Given the description of an element on the screen output the (x, y) to click on. 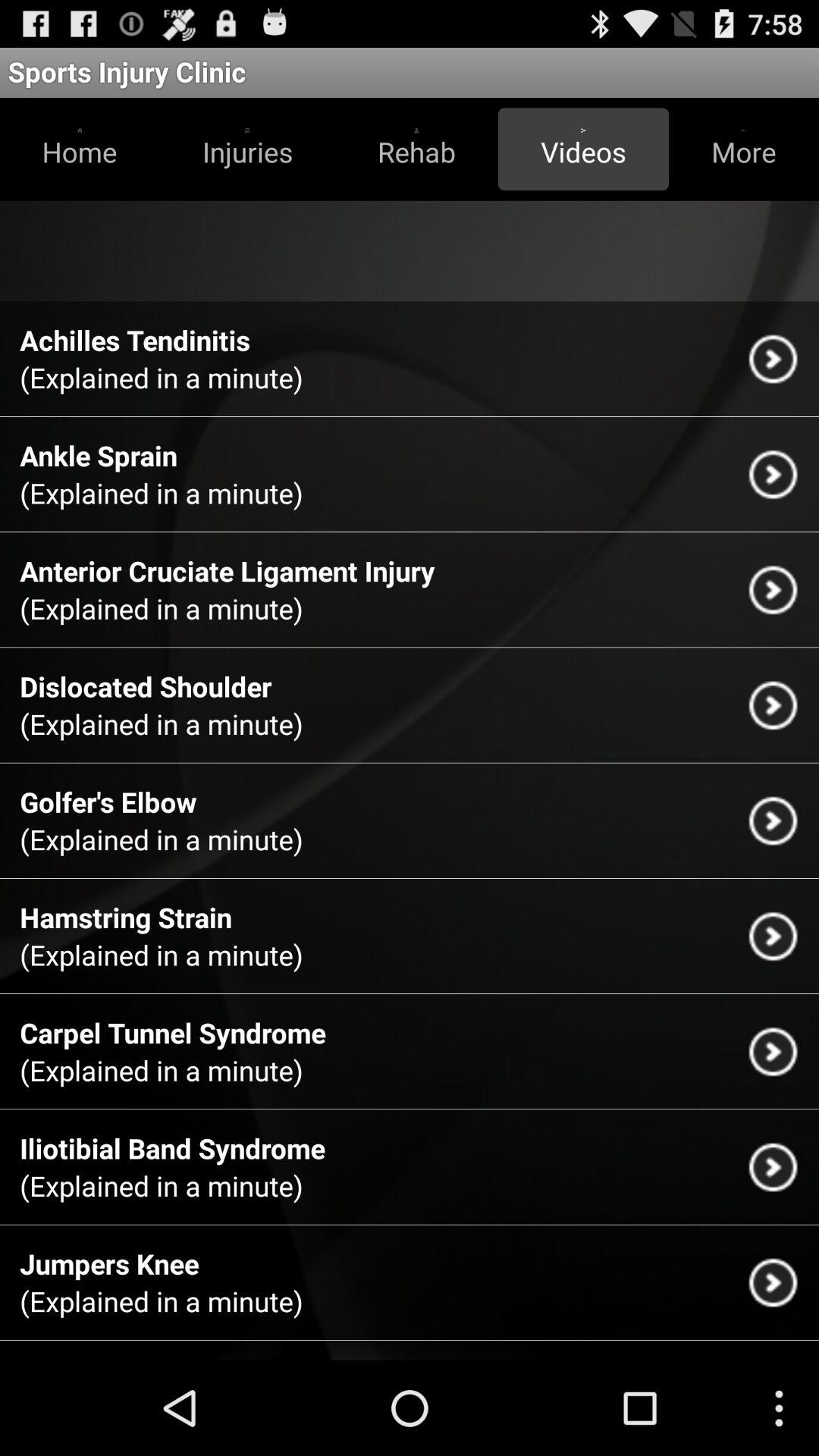
tap the rehab button (416, 149)
